Given the description of an element on the screen output the (x, y) to click on. 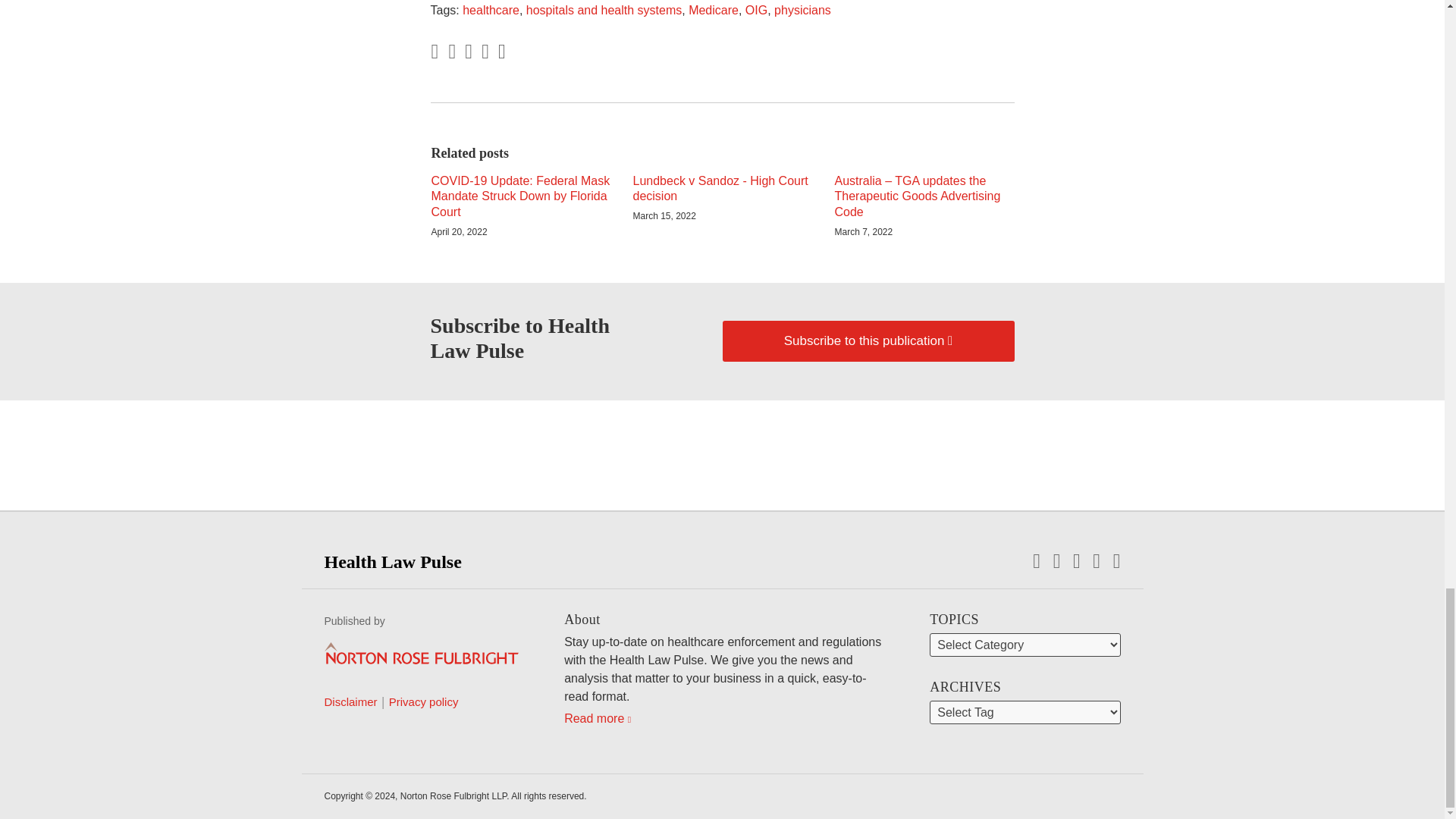
OIG (756, 10)
Medicare (713, 10)
Lundbeck v Sandoz - High Court decision (720, 189)
Subscribe to this publication (867, 341)
hospitals and health systems (603, 10)
healthcare (491, 10)
physicians (802, 10)
Health Law Pulse (392, 561)
